Given the description of an element on the screen output the (x, y) to click on. 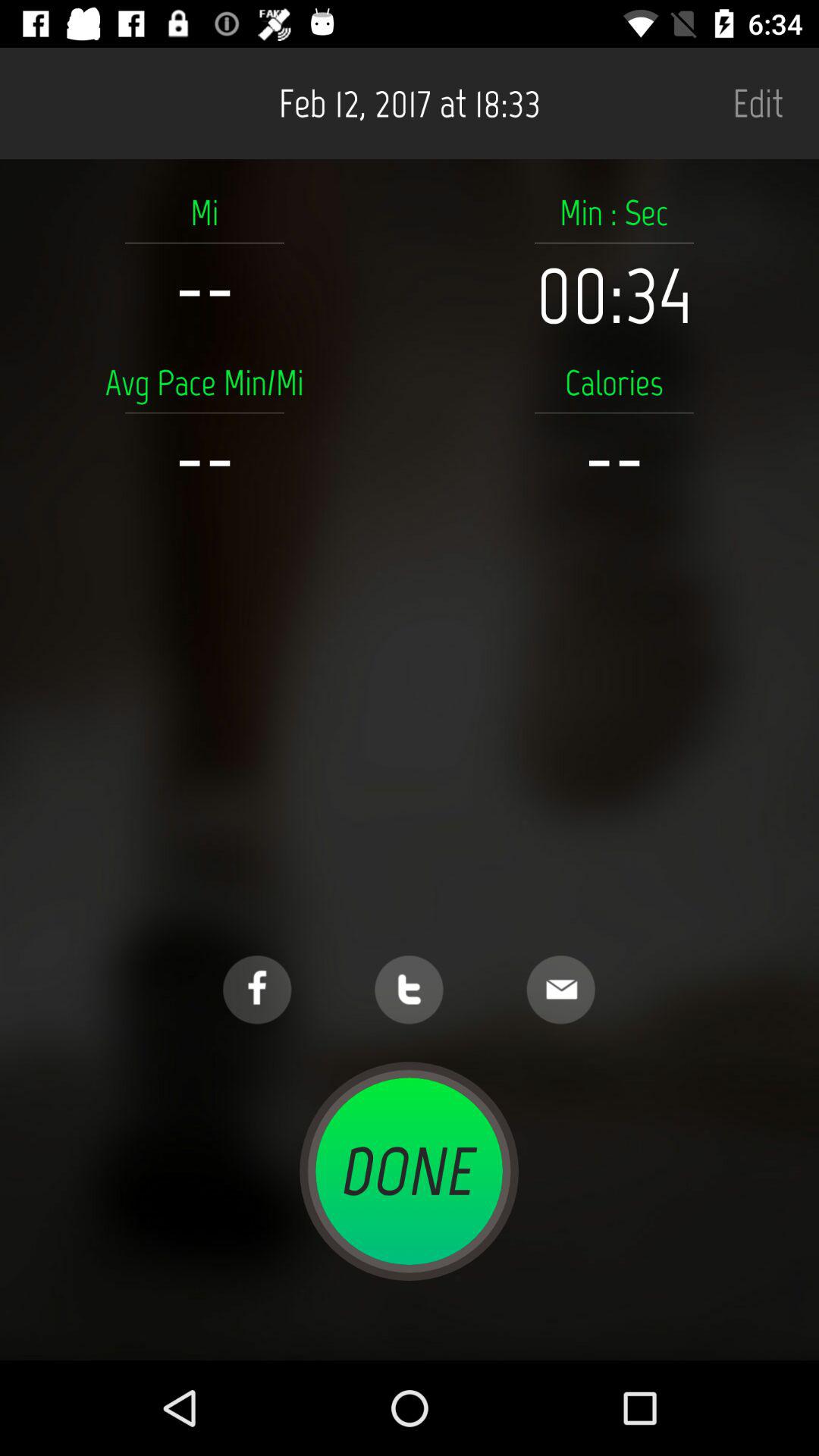
turn off icon to the right of feb 12 2017 item (757, 103)
